Given the description of an element on the screen output the (x, y) to click on. 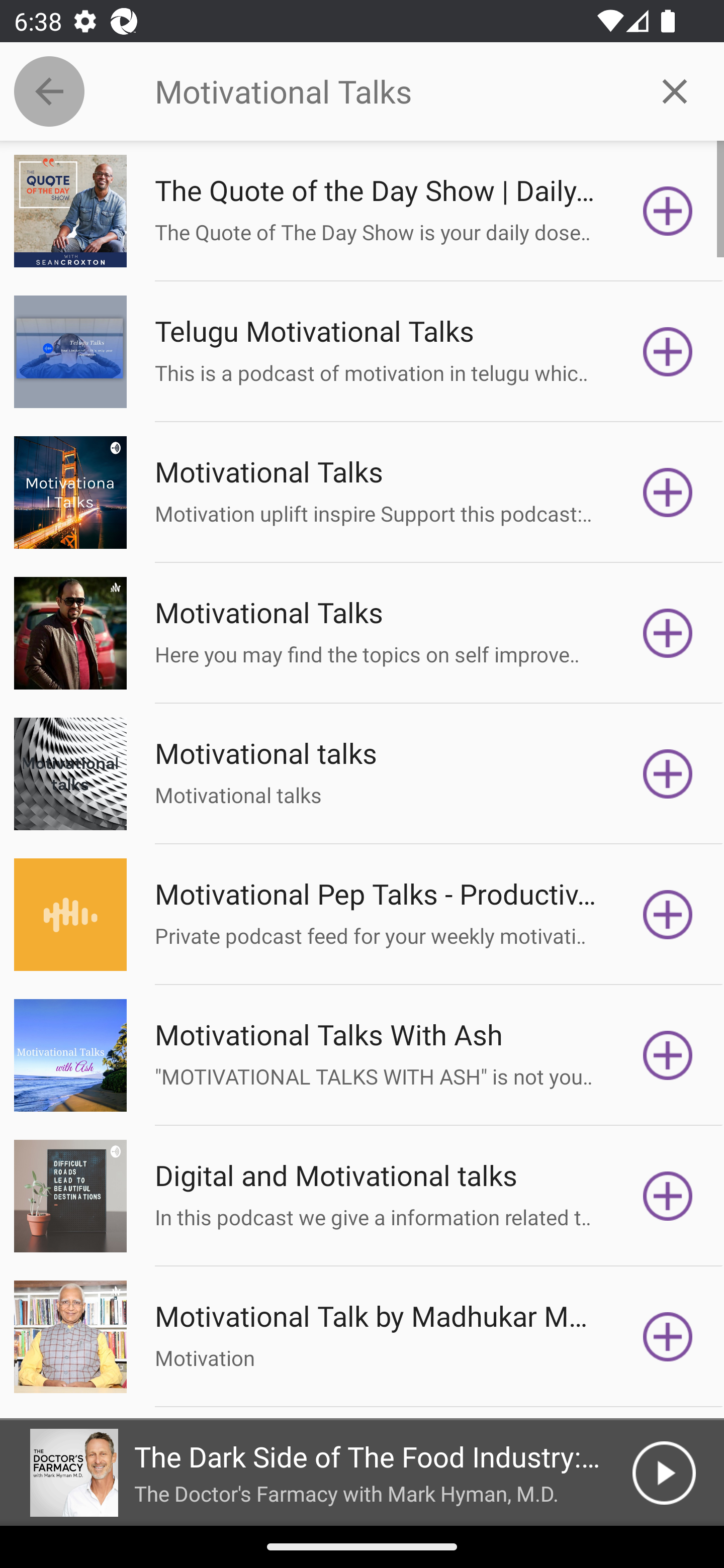
Collapse (49, 91)
Clear query (674, 90)
Motivational Talks (389, 91)
Subscribe (667, 211)
Subscribe (667, 350)
Subscribe (667, 491)
Subscribe (667, 633)
Subscribe (667, 773)
Subscribe (667, 913)
Subscribe (667, 1054)
Subscribe (667, 1195)
Subscribe (667, 1336)
Play (663, 1472)
